Given the description of an element on the screen output the (x, y) to click on. 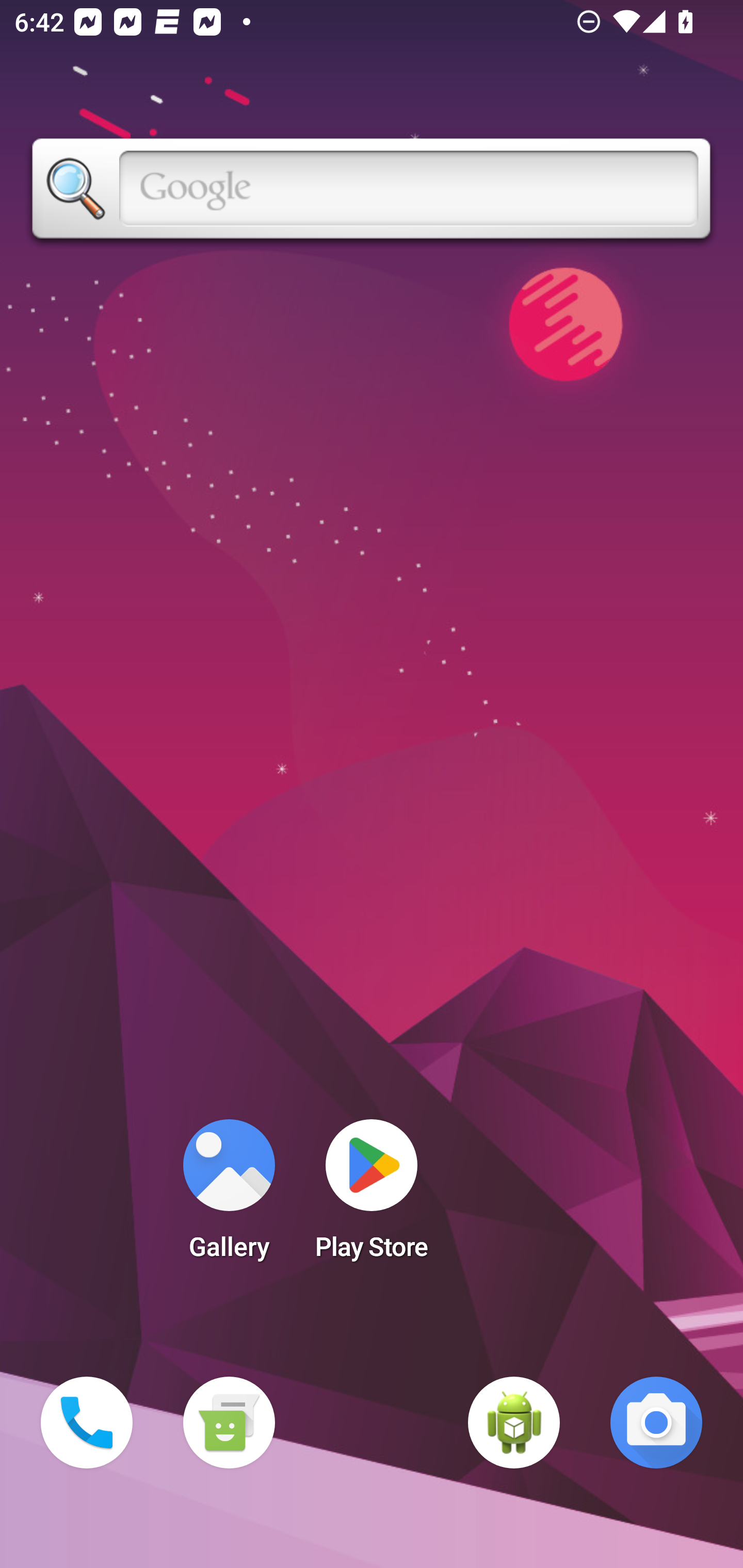
Gallery (228, 1195)
Play Store (371, 1195)
Phone (86, 1422)
Messaging (228, 1422)
WebView Browser Tester (513, 1422)
Camera (656, 1422)
